Given the description of an element on the screen output the (x, y) to click on. 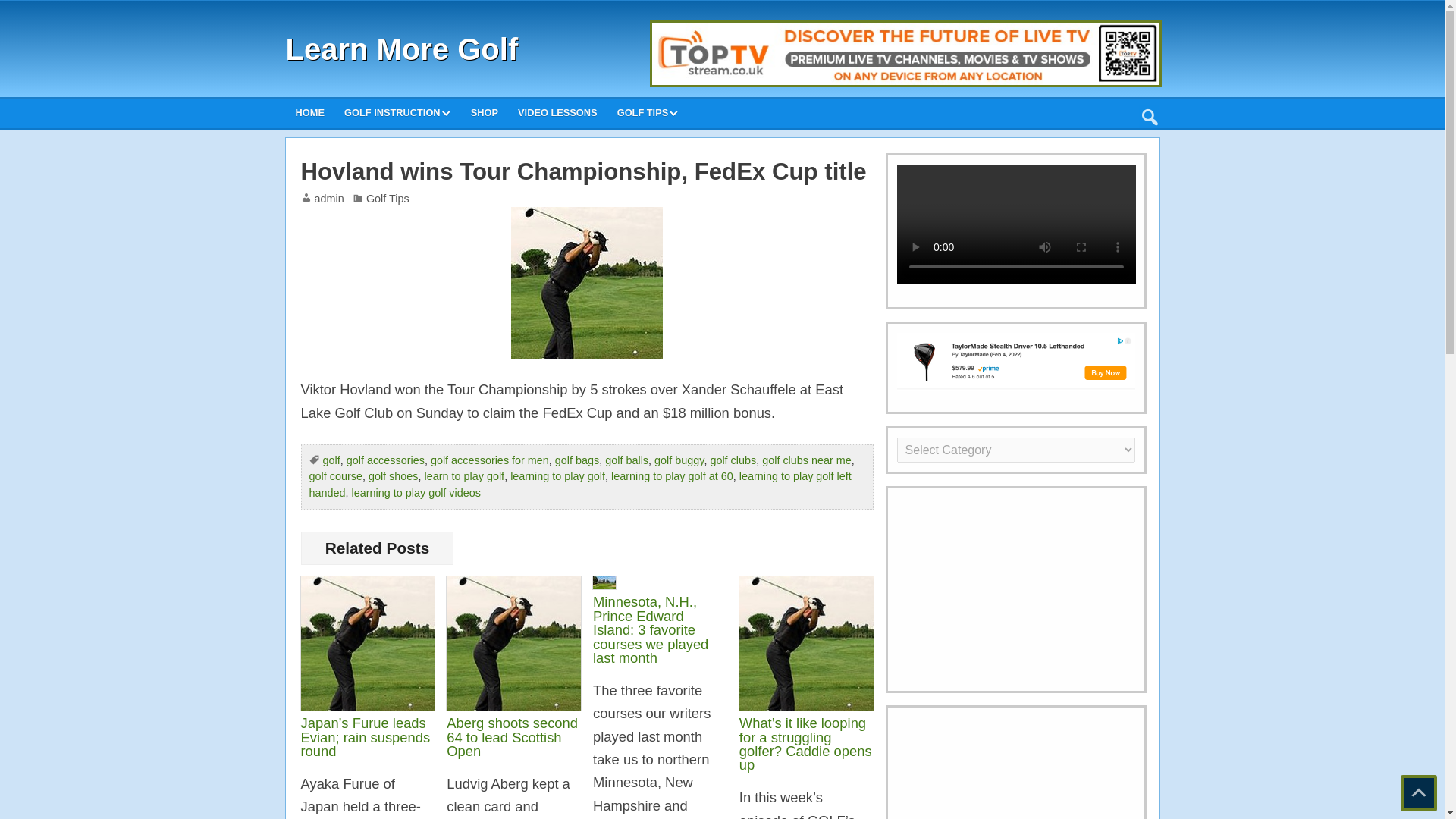
golf course (335, 476)
Golf Tips (387, 198)
golf accessories for men (489, 460)
admin (328, 198)
SHOP (484, 112)
learn to play golf (465, 476)
golf clubs (732, 460)
VIDEO LESSONS (557, 112)
golf (331, 460)
GOLF INSTRUCTION (397, 112)
golf accessories (385, 460)
golf buggy (678, 460)
learning to play golf (558, 476)
golf shoes (393, 476)
